Given the description of an element on the screen output the (x, y) to click on. 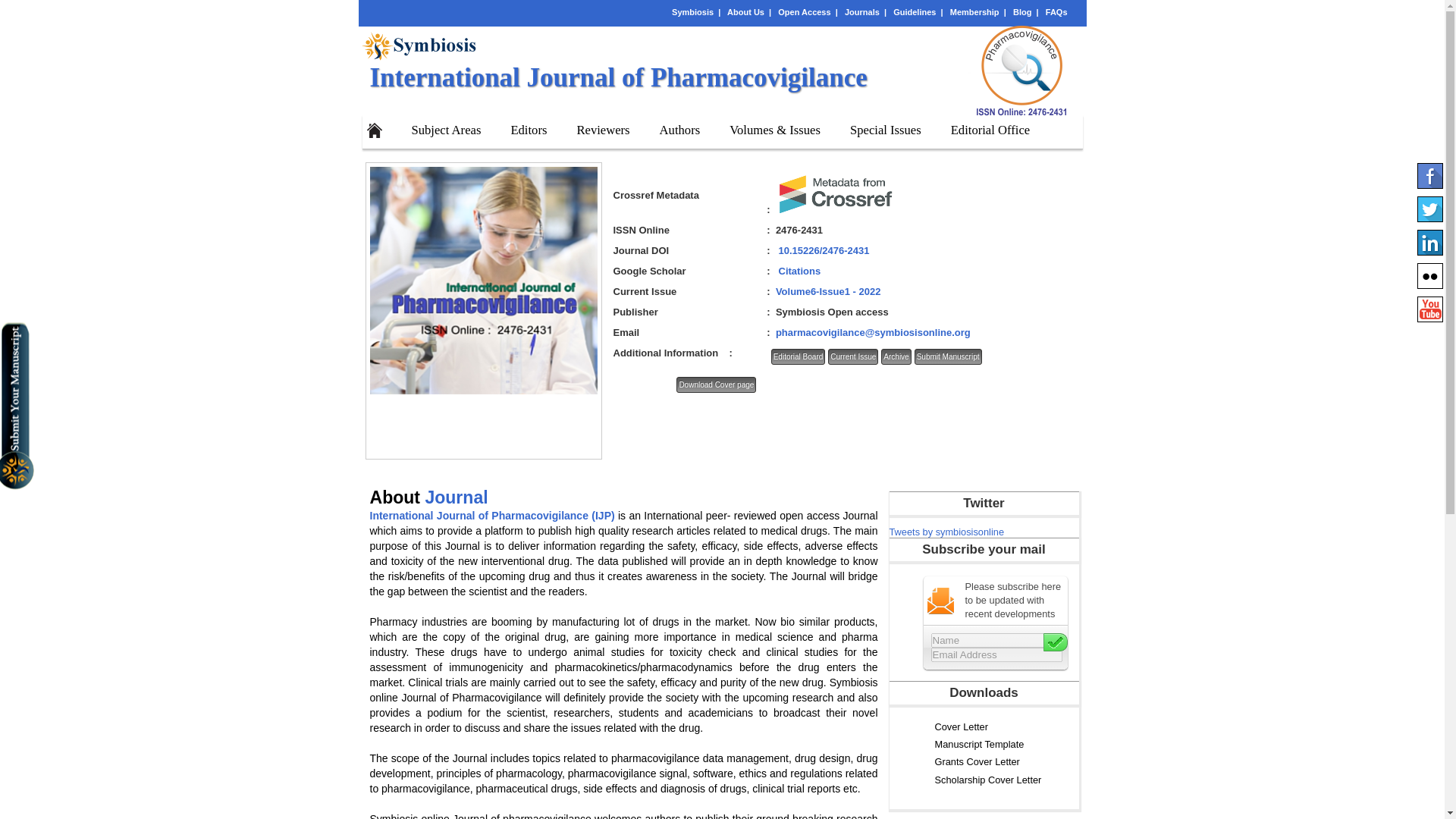
Symbiosis (692, 11)
Blog (1021, 11)
About Us (745, 11)
Authors (677, 127)
Guidelines (914, 11)
Editors (526, 127)
Pharmacovigilance (1023, 70)
FAQs (1056, 11)
Reviewers (600, 127)
Open Access (803, 11)
